Given the description of an element on the screen output the (x, y) to click on. 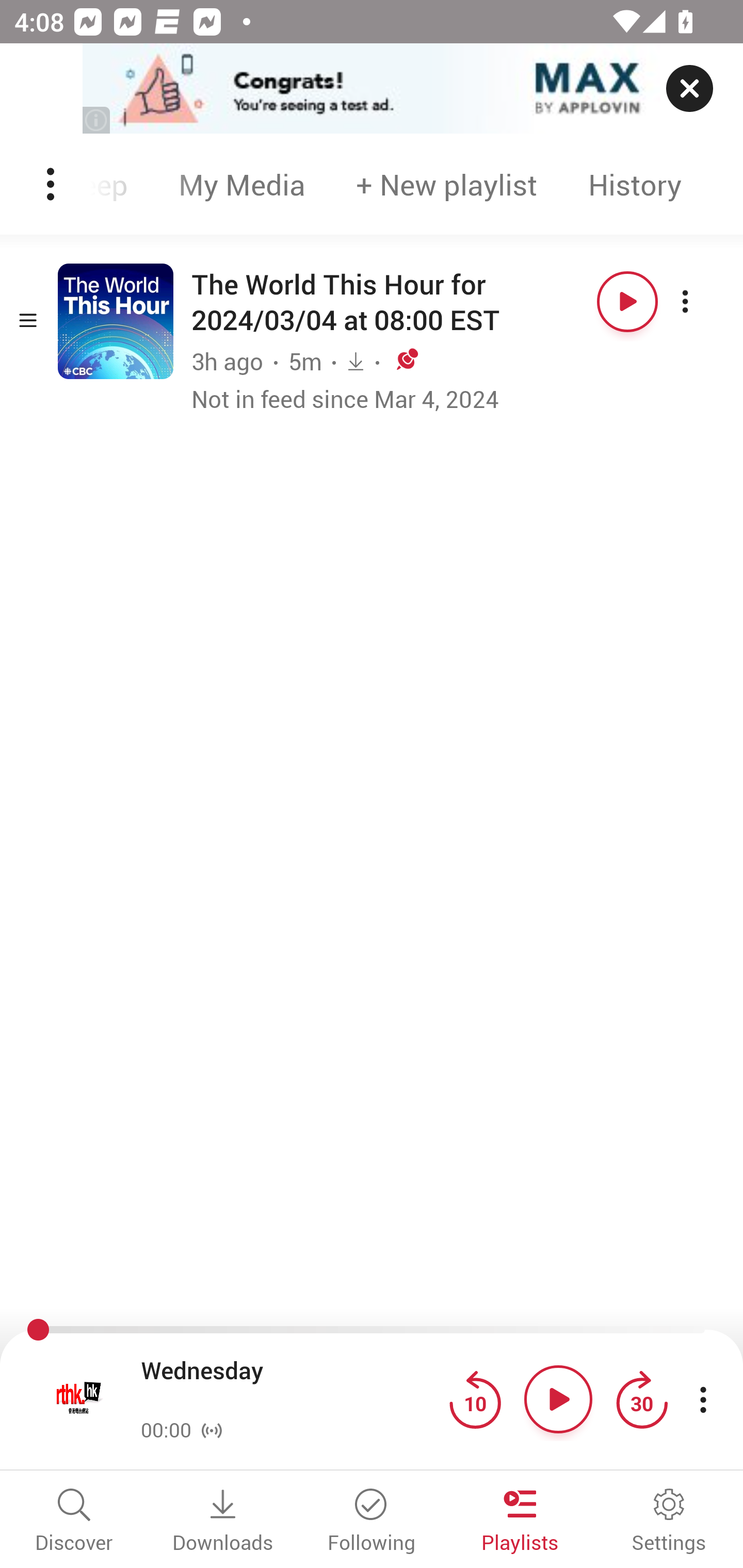
app-monetization (371, 88)
(i) (96, 119)
Menu (52, 184)
My Media (241, 184)
New playlist + New playlist (446, 184)
History (634, 184)
Play button (627, 301)
More options (703, 301)
Open series The World This Hour (115, 321)
Open fullscreen player (79, 1399)
More player controls (703, 1399)
Wednesday (290, 1385)
Play button (558, 1398)
Jump back (475, 1399)
Jump forward (641, 1399)
Discover (74, 1521)
Downloads (222, 1521)
Following (371, 1521)
Playlists (519, 1521)
Settings (668, 1521)
